Given the description of an element on the screen output the (x, y) to click on. 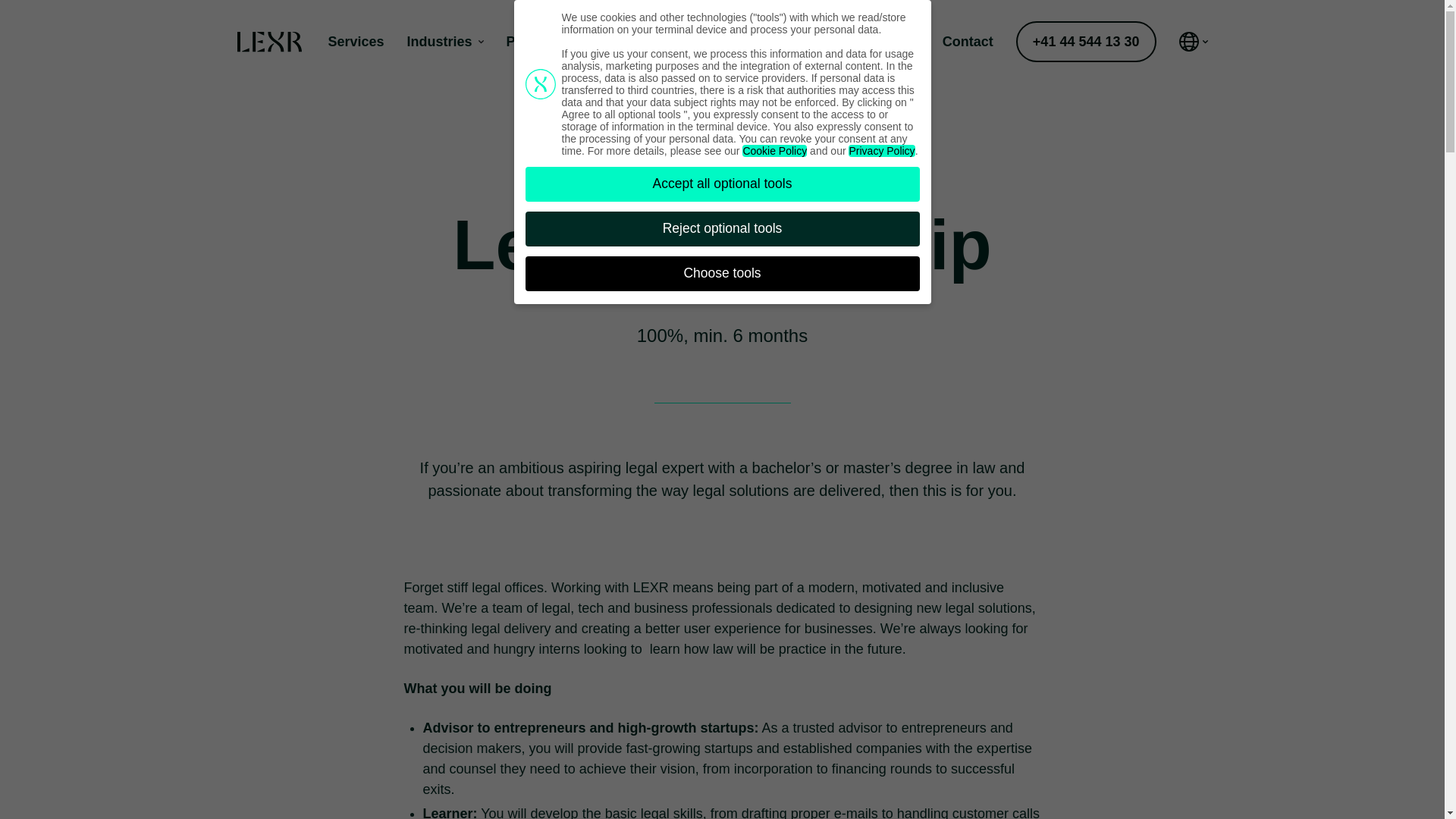
Open Cookie Preferences (32, 785)
Resources (615, 31)
Company (715, 38)
